Given the description of an element on the screen output the (x, y) to click on. 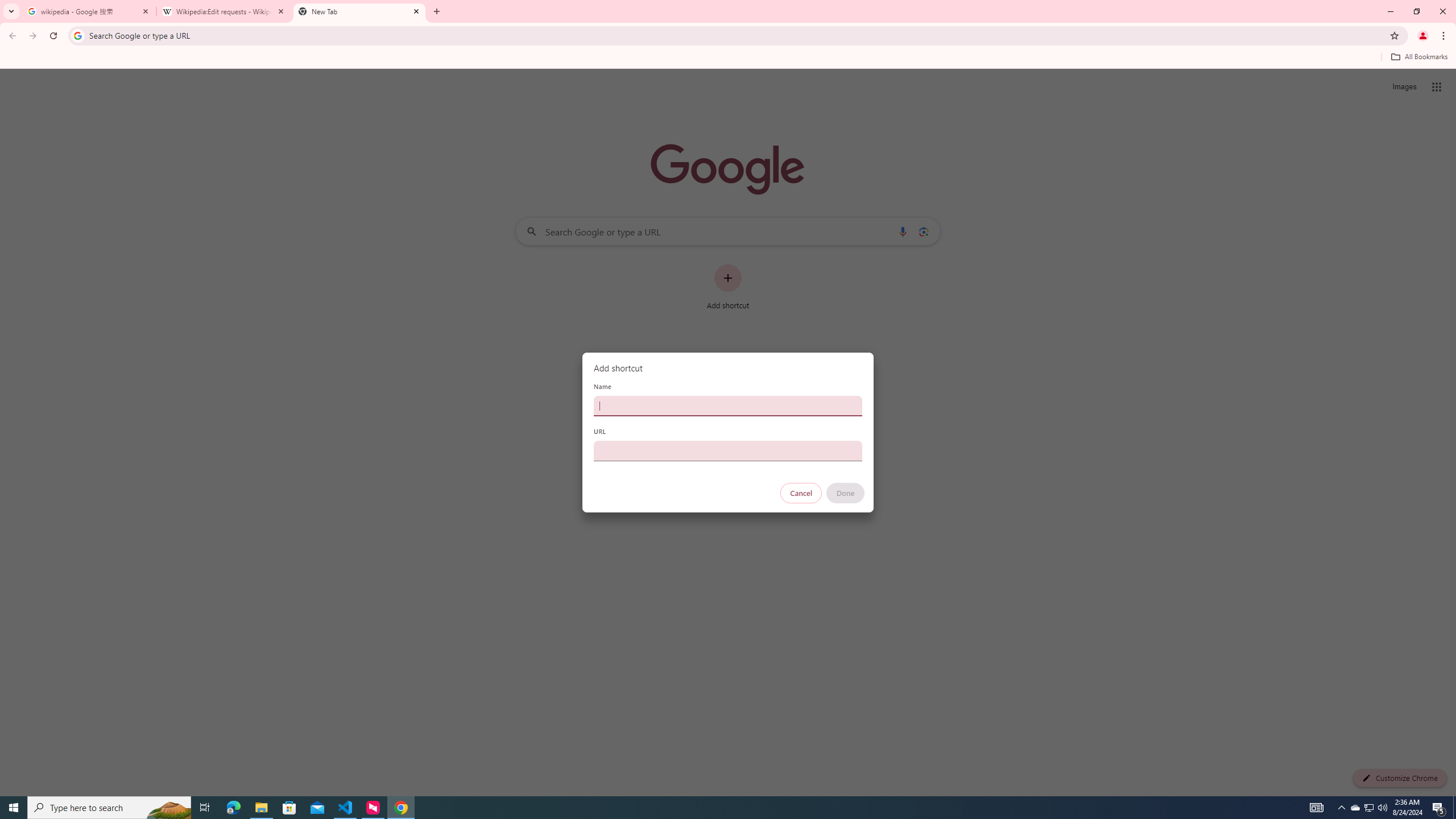
Name (727, 405)
URL (727, 450)
New Tab (359, 11)
